Given the description of an element on the screen output the (x, y) to click on. 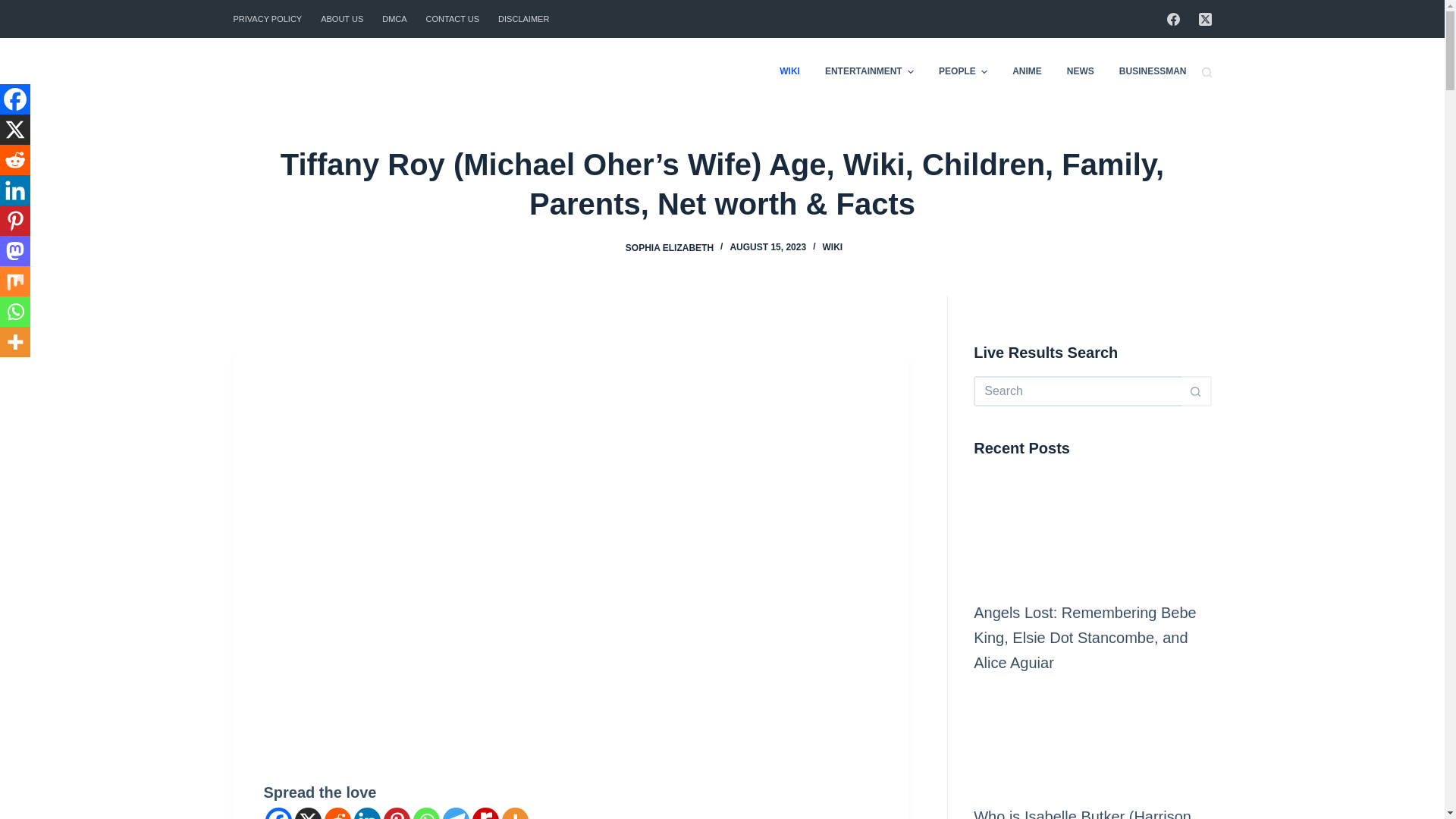
Whatsapp (425, 813)
More (515, 813)
Linkedin (366, 813)
Pinterest (397, 813)
Reddit (337, 813)
BUSINESSMAN (1146, 71)
Rediff MyPage (484, 813)
ABOUT US (341, 18)
Facebook (278, 813)
PRIVACY POLICY (271, 18)
DMCA (394, 18)
DISCLAIMER (519, 18)
Posts by Sophia Elizabeth (669, 246)
PEOPLE (963, 71)
X (307, 813)
